Given the description of an element on the screen output the (x, y) to click on. 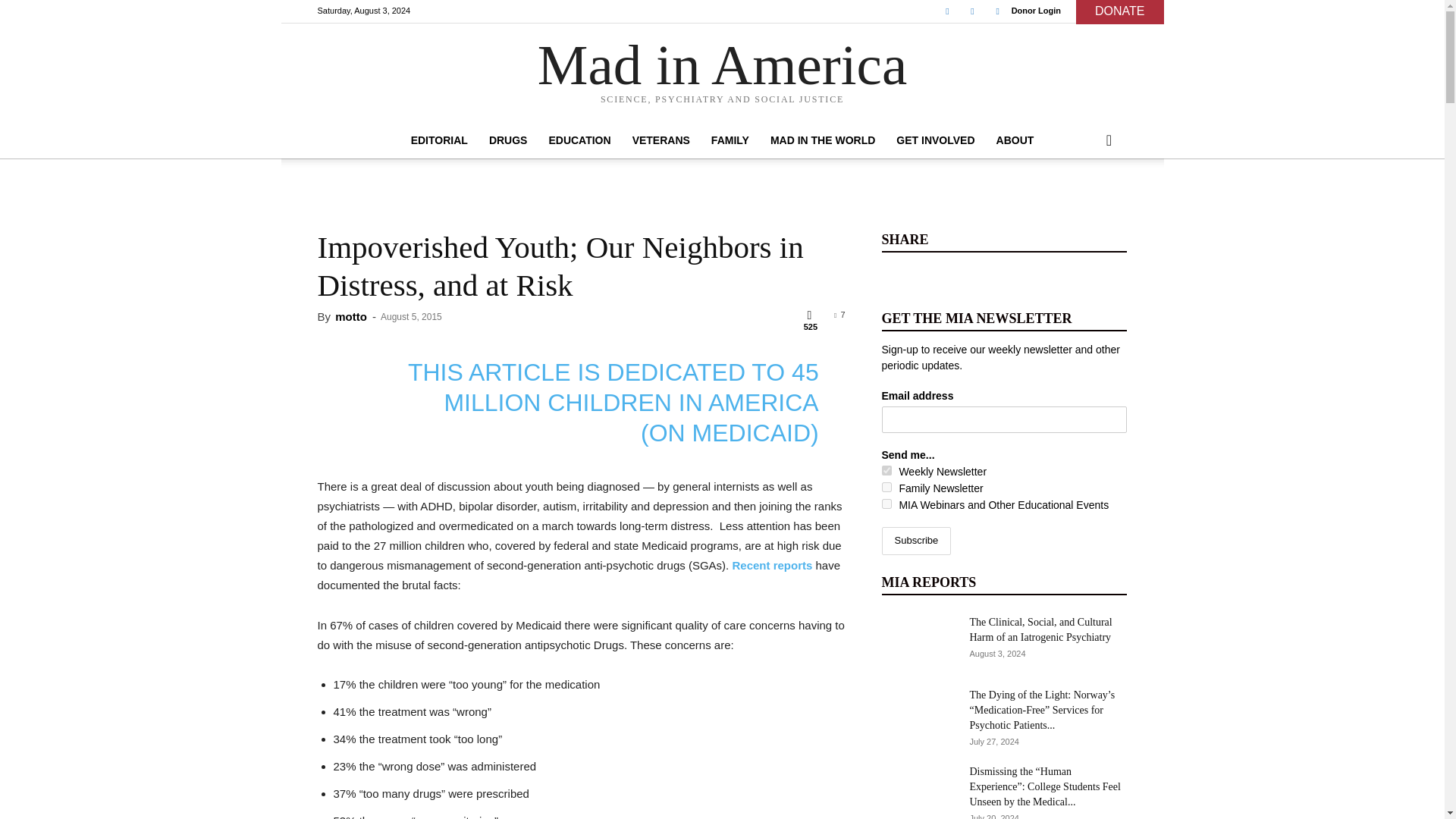
a8b577bac2 (885, 470)
Twitter (972, 10)
64ec82b4cd (885, 487)
Posts by motto (350, 316)
Subscribe (915, 541)
Facebook (947, 10)
Youtube (998, 10)
59a3706891 (885, 503)
